Given the description of an element on the screen output the (x, y) to click on. 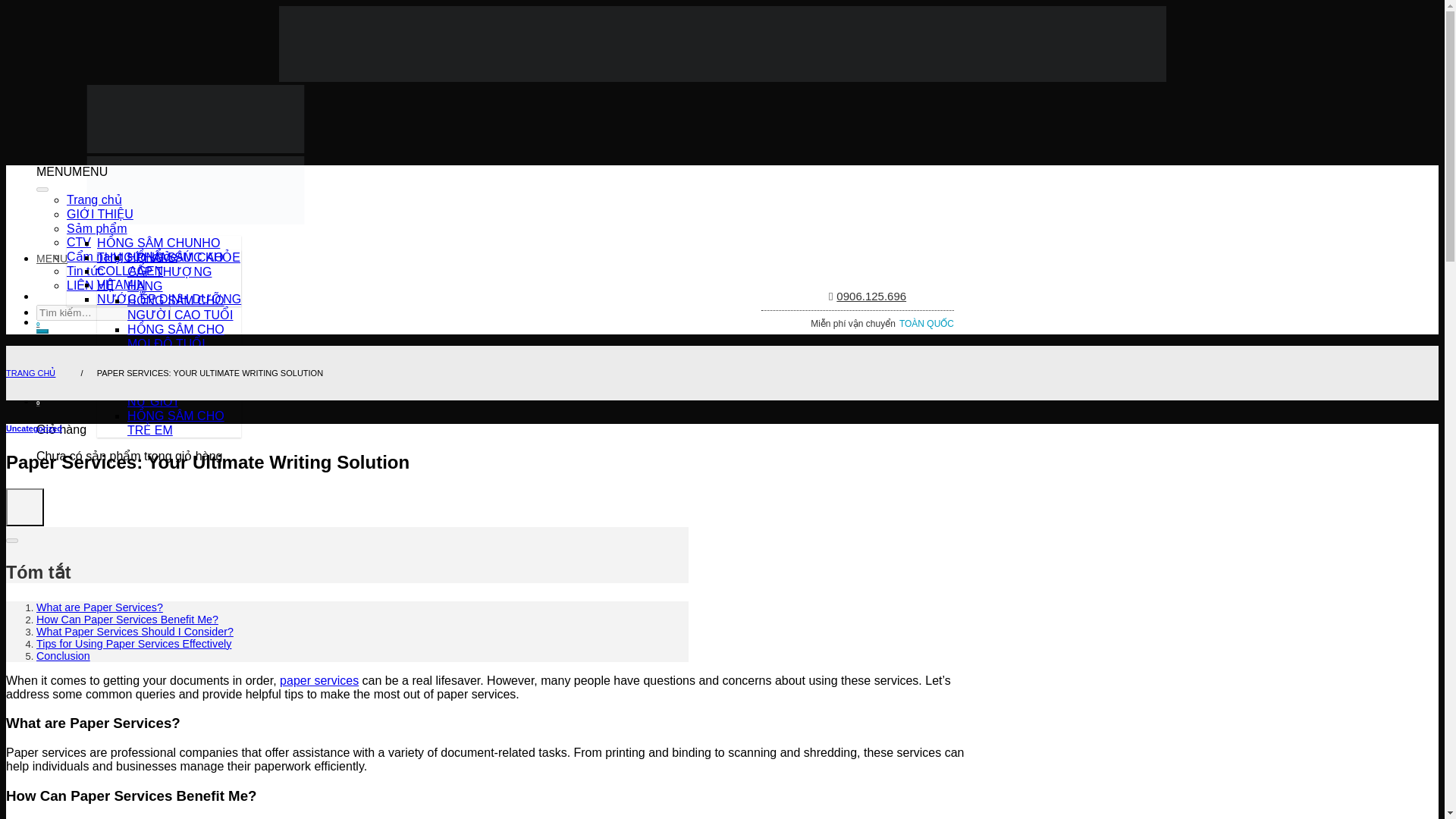
MENU (494, 258)
CTV (78, 241)
paper services (318, 680)
0 (494, 323)
click To Maximize The Table Of Contents (24, 507)
How Can Paper Services Benefit Me? (127, 619)
0 (494, 402)
Tips for Using Paper Services Effectively (133, 644)
What Paper Services Should I Consider? (134, 632)
Conclusion (63, 655)
Uncategorized (33, 428)
VITAMIN (121, 284)
Chunho Ncare Korea (195, 184)
0906.125.696 (866, 295)
What are Paper Services? (99, 607)
